Given the description of an element on the screen output the (x, y) to click on. 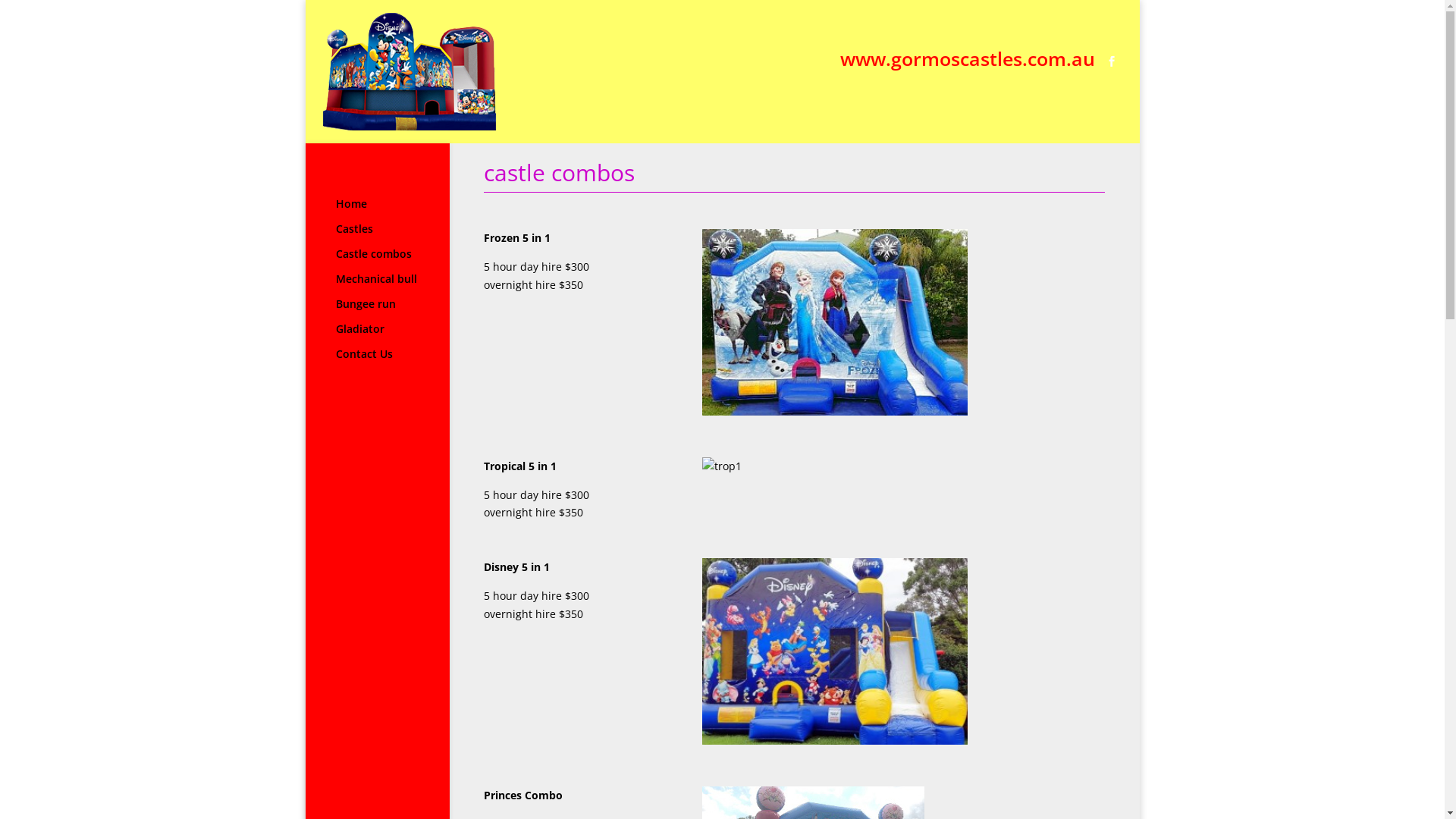
Home Element type: text (401, 210)
Gladiator Element type: text (401, 335)
Contact Us Element type: text (401, 360)
Castles Element type: text (401, 235)
Bungee run Element type: text (401, 310)
Castle combos Element type: text (401, 260)
Mechanical bull Element type: text (401, 285)
